Given the description of an element on the screen output the (x, y) to click on. 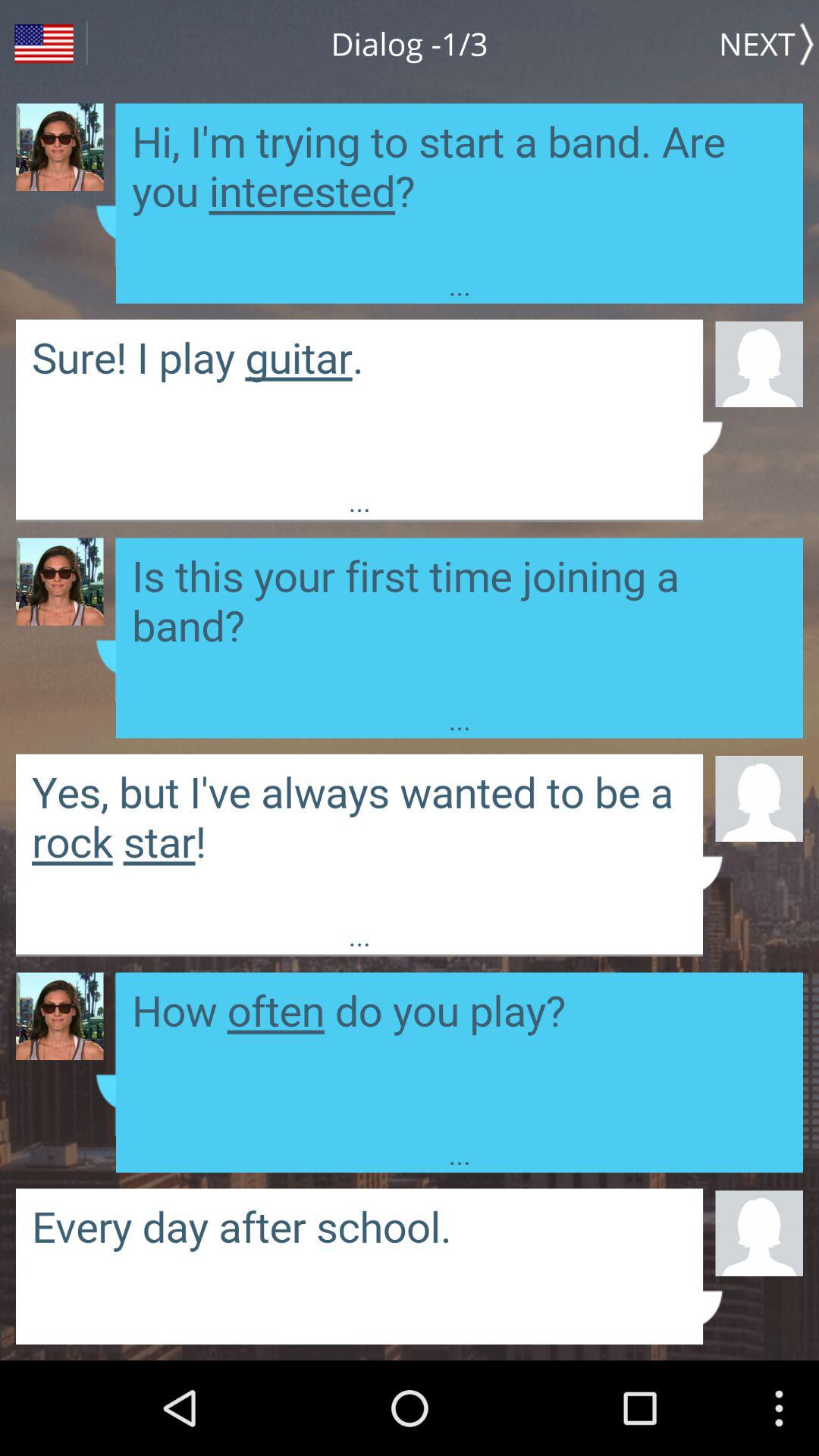
select message option (358, 400)
